Given the description of an element on the screen output the (x, y) to click on. 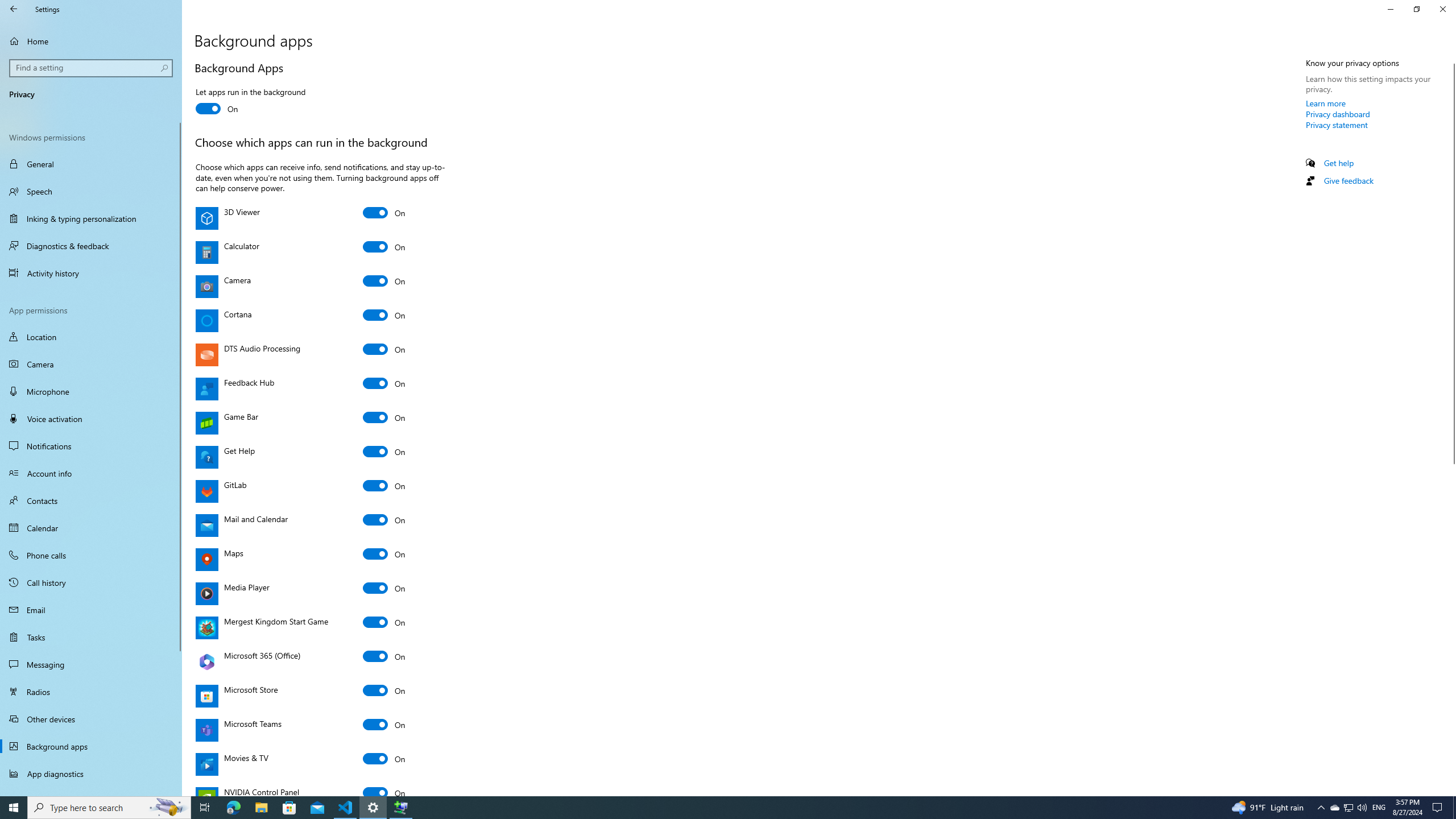
Media Player (384, 588)
Camera (91, 363)
Settings - 1 running window (373, 807)
Contacts (91, 500)
Email (91, 609)
Start (13, 807)
DTS Audio Processing (384, 348)
Mergest Kingdom Start Game (384, 622)
Vertical Small Increase (1451, 791)
Game Bar (384, 417)
Calendar (91, 527)
Tray Input Indicator - English (United States) (1378, 807)
Show desktop (1454, 807)
Mail and Calendar (384, 520)
File Explorer (261, 807)
